Given the description of an element on the screen output the (x, y) to click on. 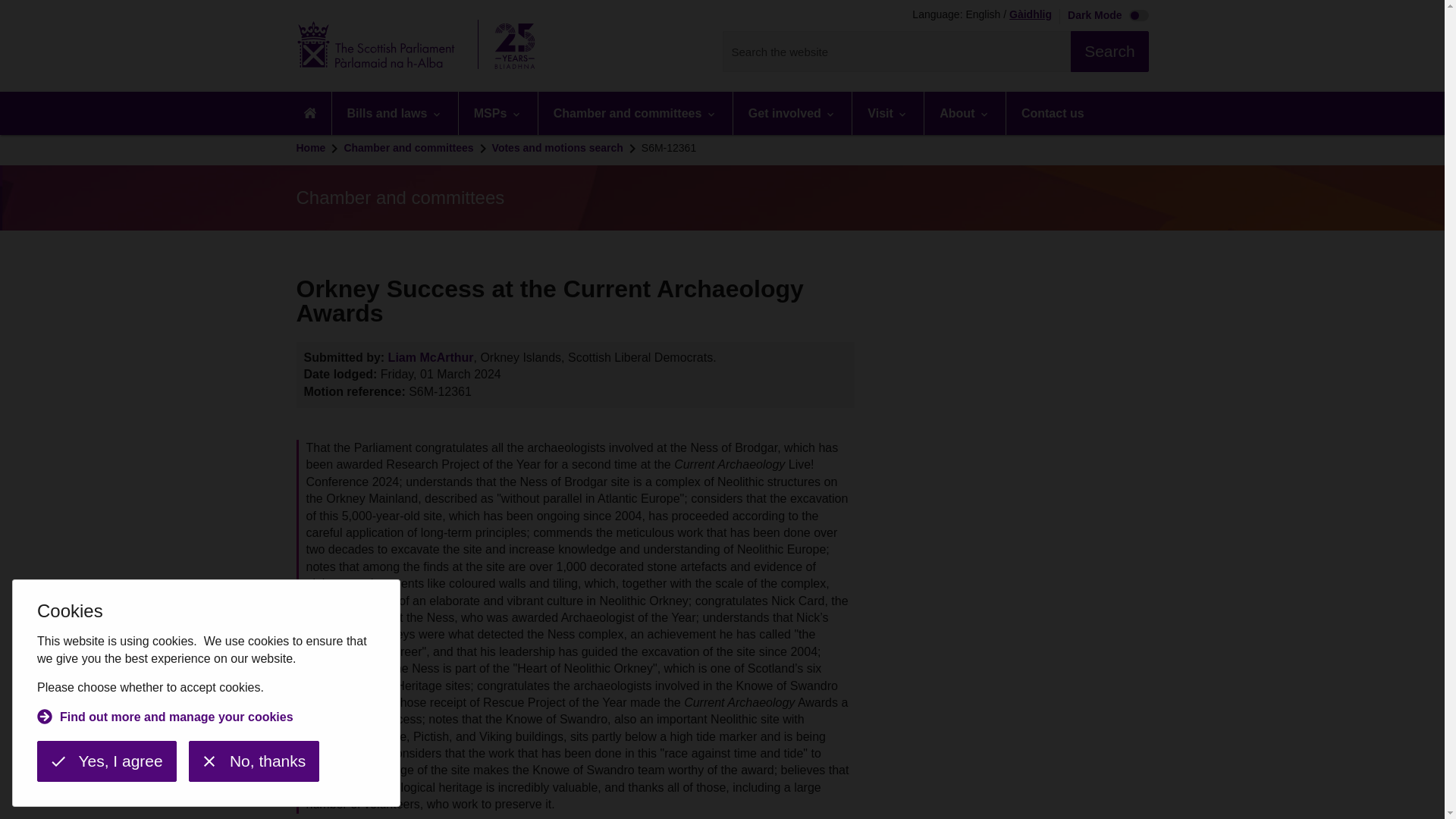
Yes, I agree (106, 761)
Bills and laws (394, 113)
No, thanks (252, 761)
Find out more and manage your cookies (165, 718)
MSPs (497, 113)
Dark Mode (1103, 16)
Search (1109, 51)
Chamber and committees (635, 113)
Scottish Parliament Website home (419, 45)
